Given the description of an element on the screen output the (x, y) to click on. 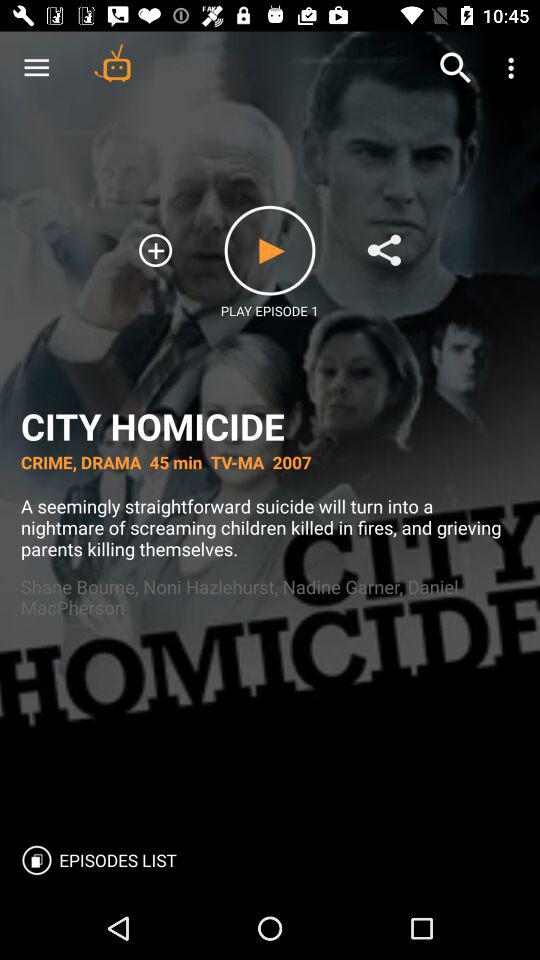
turn on icon above city homicide (513, 67)
